Given the description of an element on the screen output the (x, y) to click on. 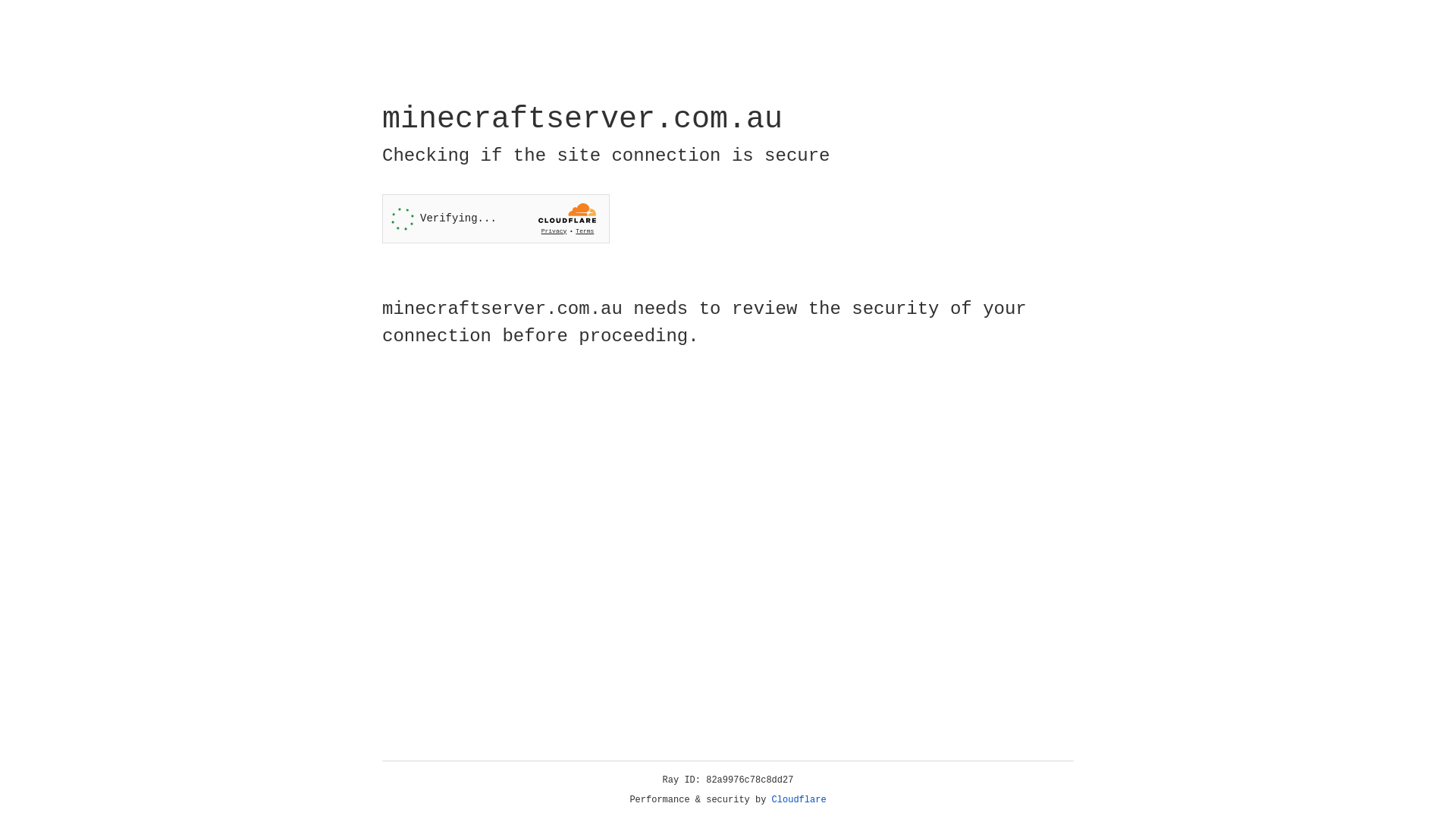
Cloudflare Element type: text (798, 799)
Widget containing a Cloudflare security challenge Element type: hover (495, 218)
